Given the description of an element on the screen output the (x, y) to click on. 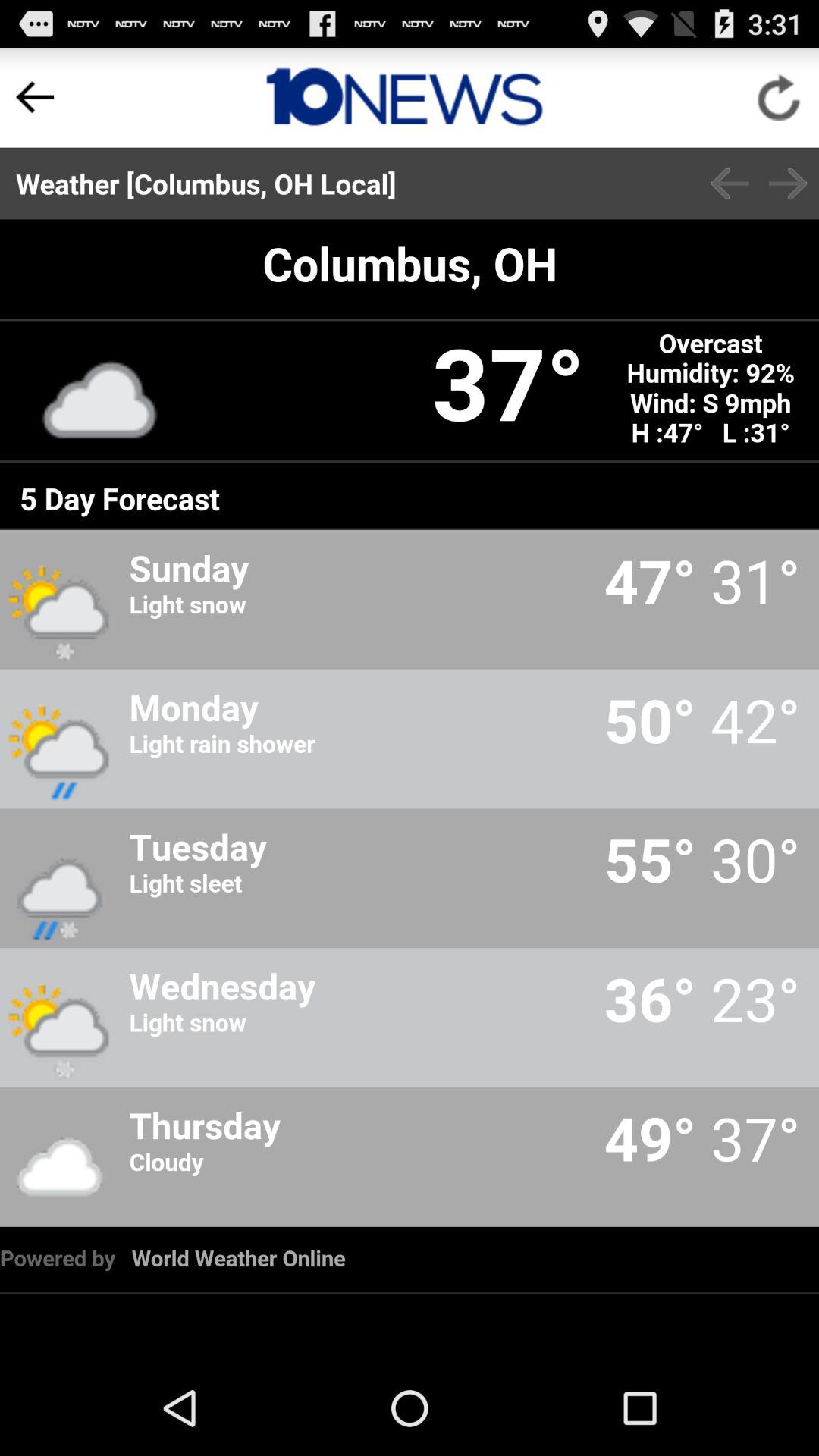
go to back button (729, 183)
